Given the description of an element on the screen output the (x, y) to click on. 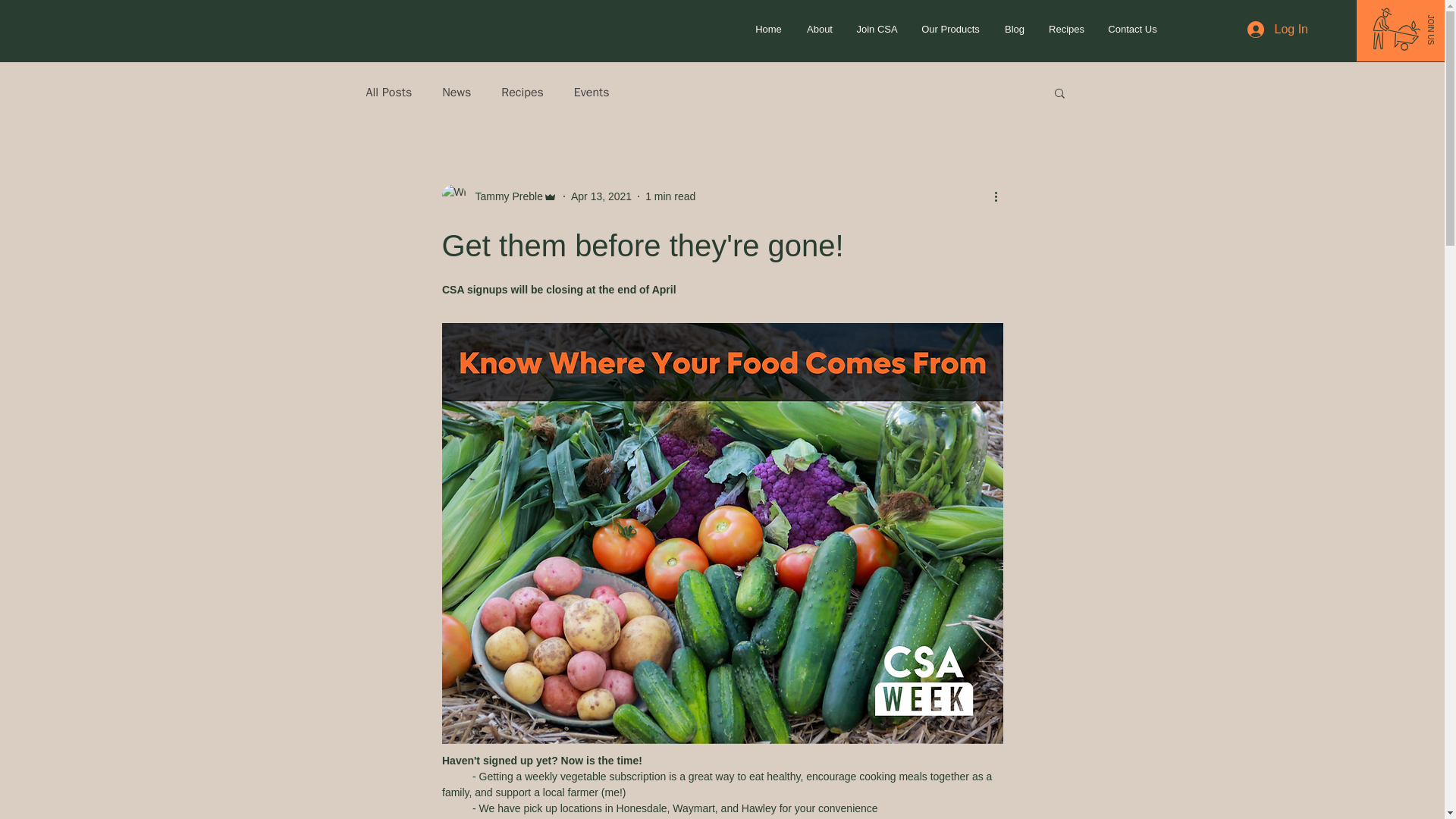
Contact Us (1132, 29)
Home (768, 29)
Recipes (521, 92)
Log In (1277, 29)
Events (591, 92)
News (456, 92)
Recipes (1066, 29)
Tammy Preble (498, 196)
1 min read (670, 195)
Apr 13, 2021 (600, 195)
